Given the description of an element on the screen output the (x, y) to click on. 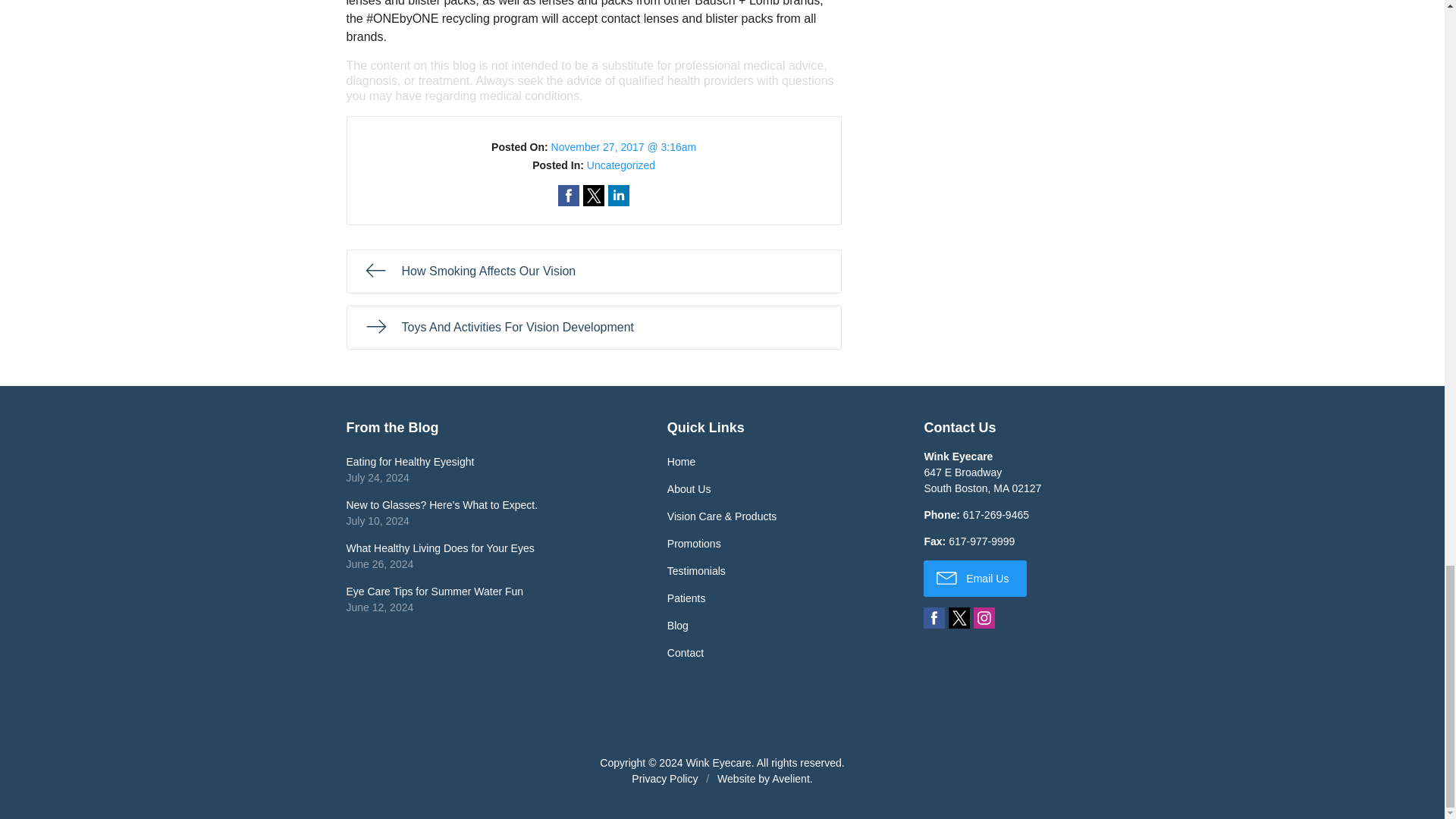
Share on Facebook (568, 195)
Go to our Facebook Page (933, 617)
Share on LinkedIn (618, 195)
Open this address in Google Maps (982, 480)
Uncategorized (620, 164)
Share on Twitter (593, 195)
Go to our Instagram Page (984, 617)
Go to our Twitter Account (959, 617)
Toys And Activities For Vision Development (593, 327)
Share on LinkedIn (618, 195)
Share on Facebook (568, 195)
Contact practice (995, 514)
Powered by Avelient (790, 778)
Share on Twitter (593, 195)
How Smoking Affects Our Vision (593, 271)
